Given the description of an element on the screen output the (x, y) to click on. 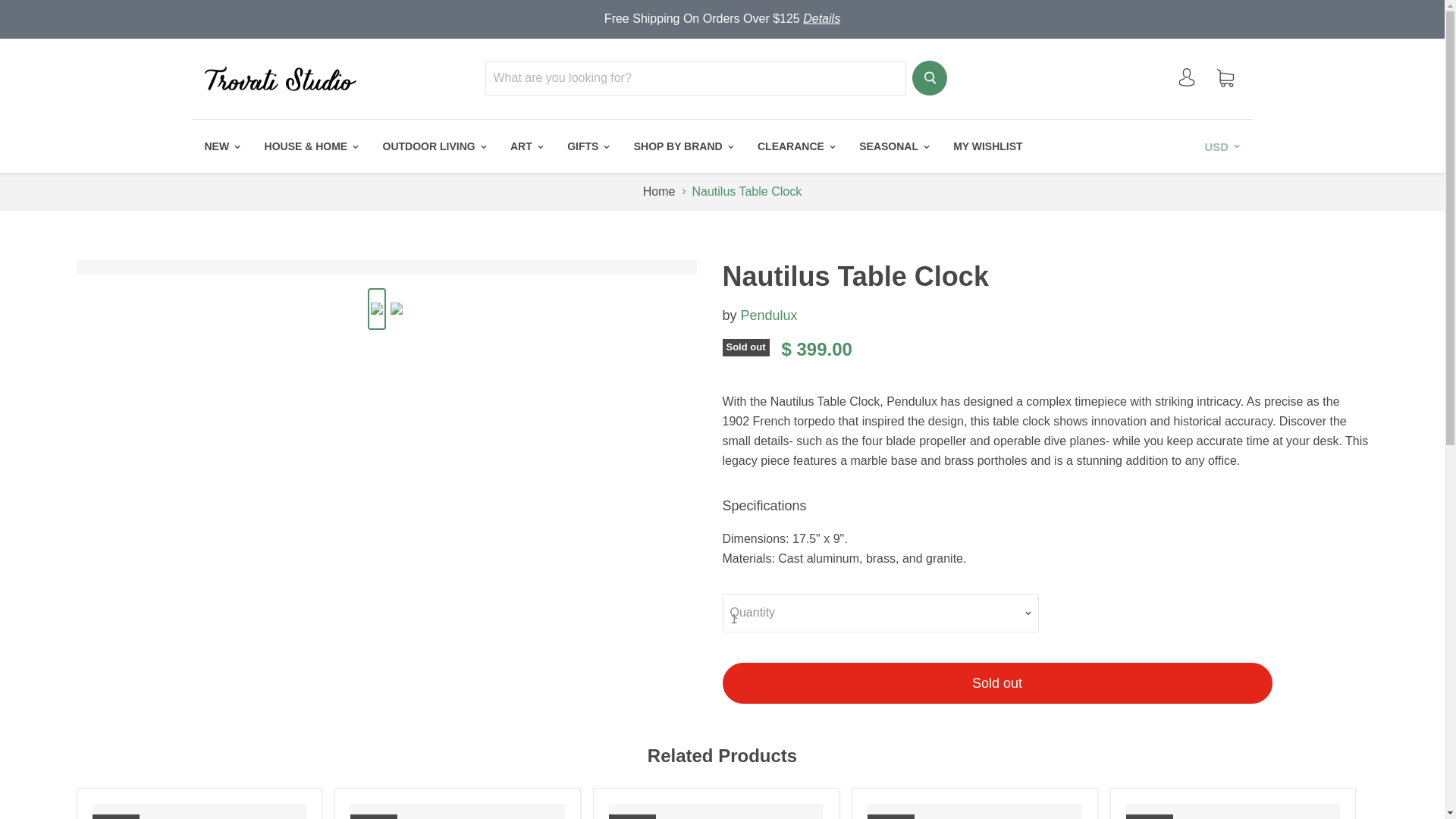
NEW (220, 146)
Shipping Details (821, 18)
Details (821, 18)
View cart (1224, 79)
Pendulux (769, 314)
